Given the description of an element on the screen output the (x, y) to click on. 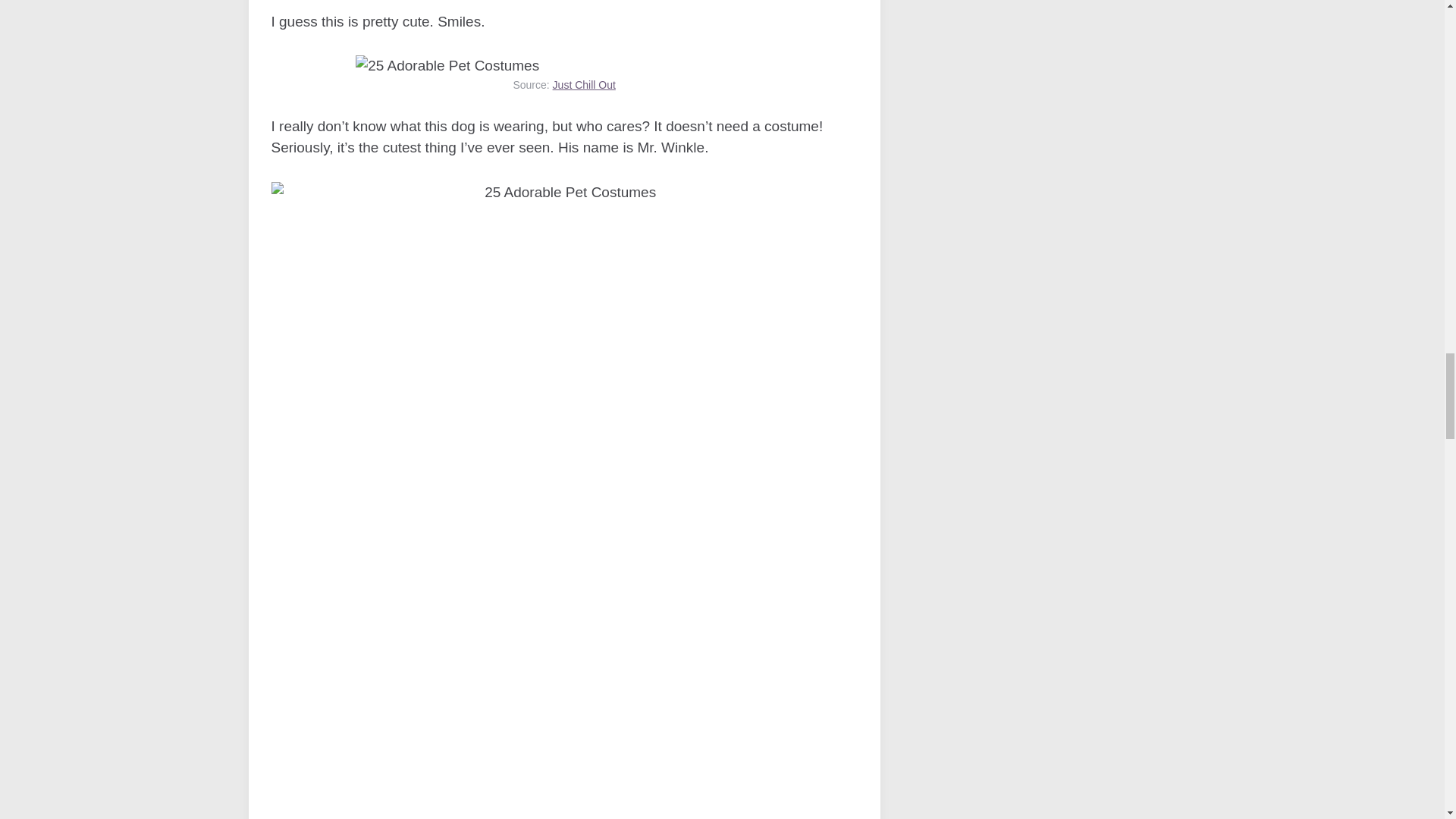
Halloween Costumes For Cats (446, 65)
